Given the description of an element on the screen output the (x, y) to click on. 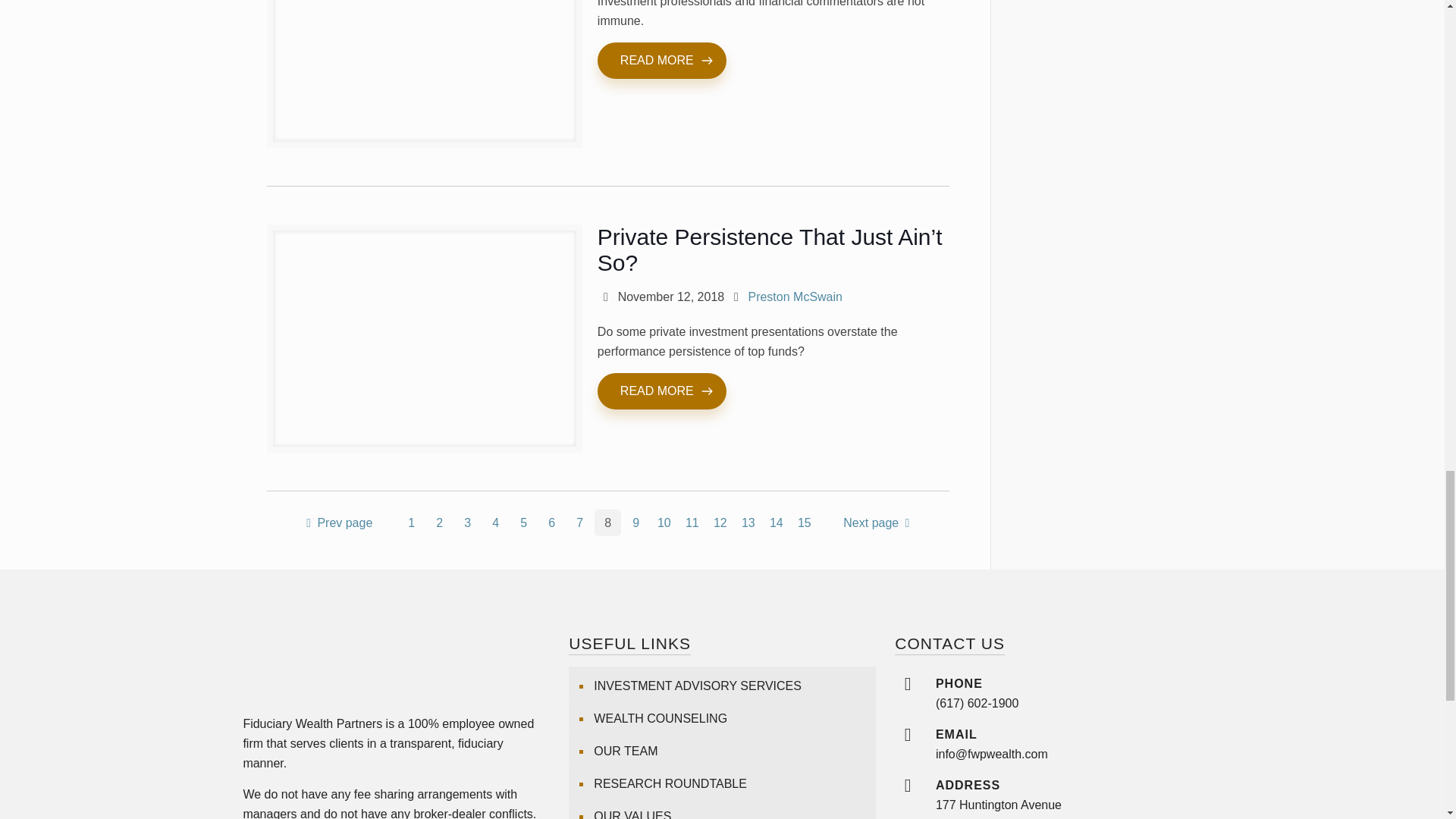
READ MORE (661, 60)
